Given the description of an element on the screen output the (x, y) to click on. 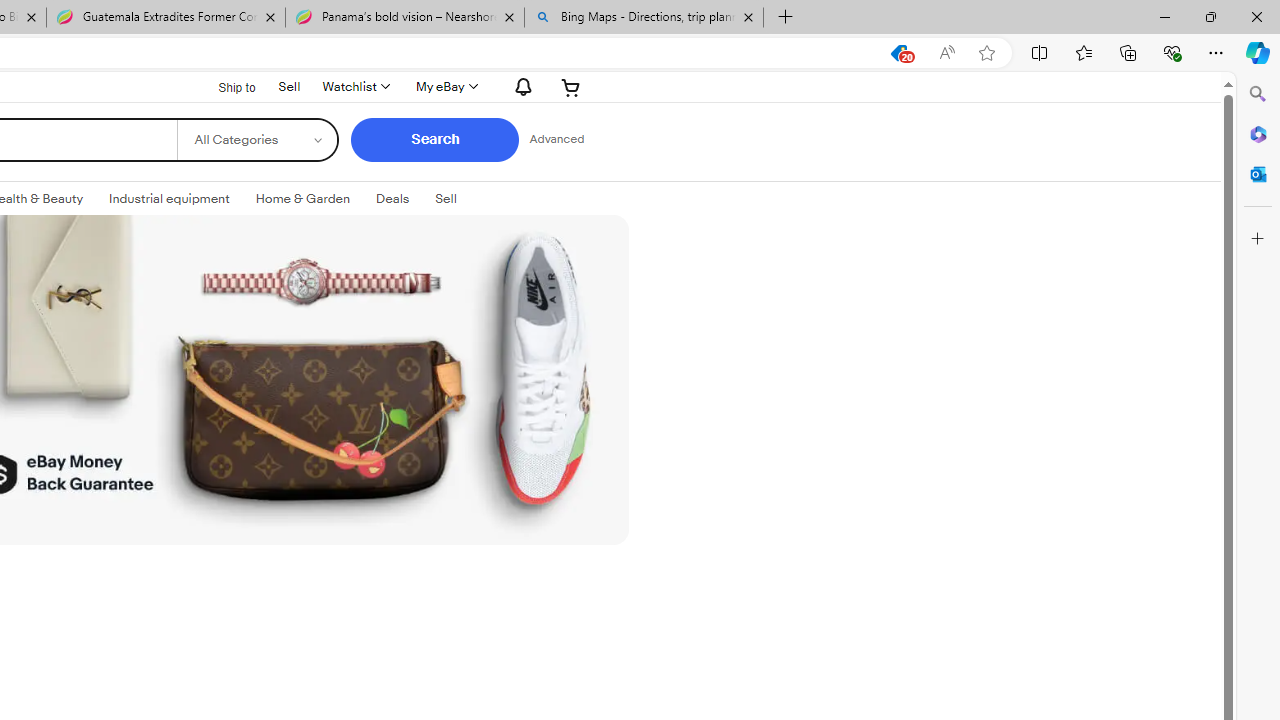
This site has coupons! Shopping in Microsoft Edge, 20 (898, 53)
My eBay (445, 86)
Ship to (224, 87)
Watchlist (355, 86)
Expand Cart (570, 86)
My eBayExpand My eBay (445, 86)
Industrial equipmentExpand: Industrial equipment (169, 199)
